Given the description of an element on the screen output the (x, y) to click on. 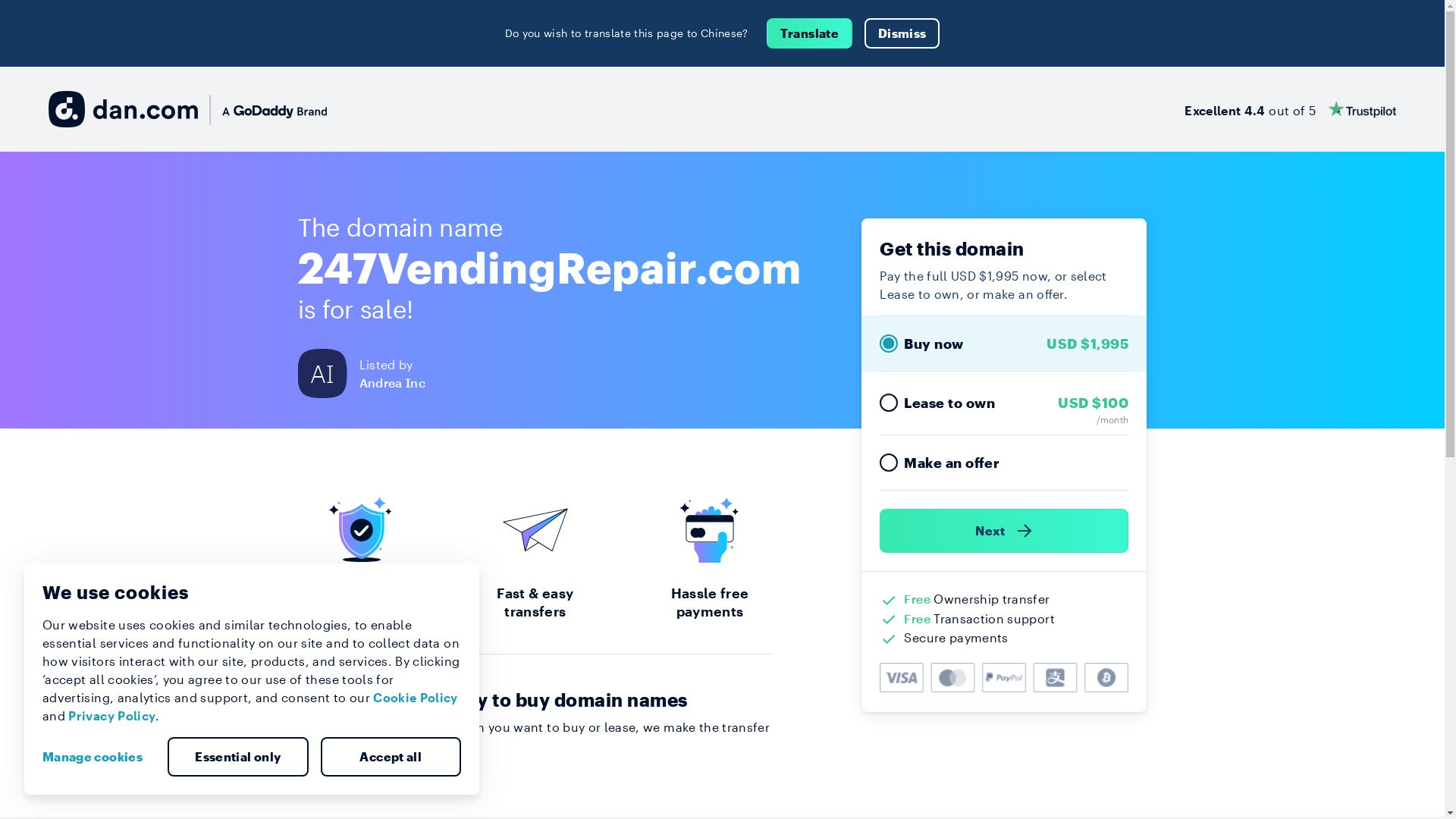
Excellent 4.4 out of 5 Element type: text (1290, 109)
Privacy Policy Element type: text (111, 715)
Dismiss Element type: text (901, 33)
Accept all Element type: text (390, 756)
Translate Element type: text (809, 33)
Next
) Element type: text (1003, 530)
Essential only Element type: text (237, 756)
AI Element type: text (327, 373)
Manage cookies Element type: text (98, 756)
Cookie Policy Element type: text (415, 697)
